Given the description of an element on the screen output the (x, y) to click on. 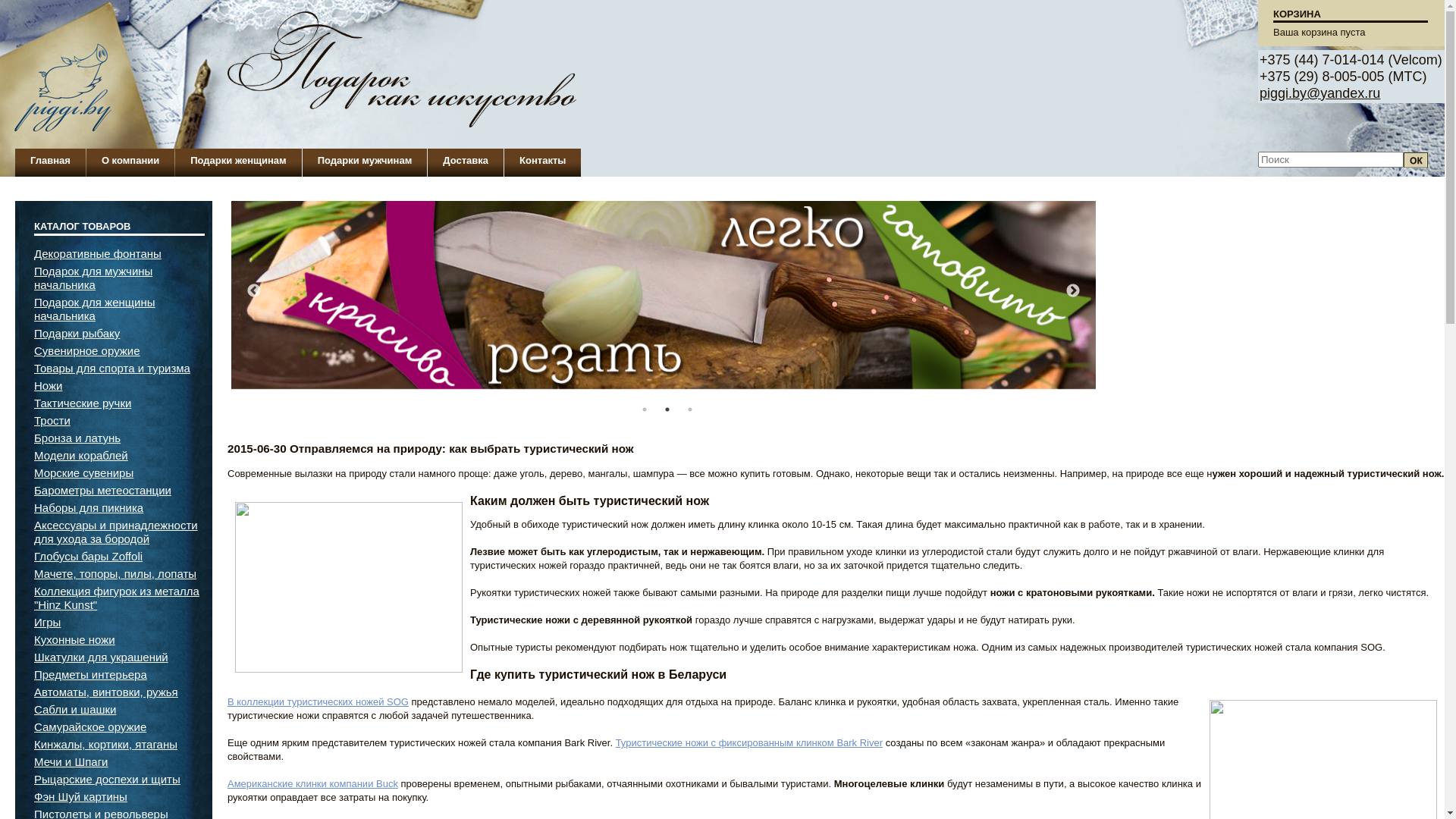
2 Element type: text (666, 409)
3 Element type: text (689, 409)
1 Element type: text (644, 409)
Previous Element type: text (253, 290)
piggi.by@yandex.ru Element type: text (1319, 92)
Next Element type: text (1072, 290)
